Given the description of an element on the screen output the (x, y) to click on. 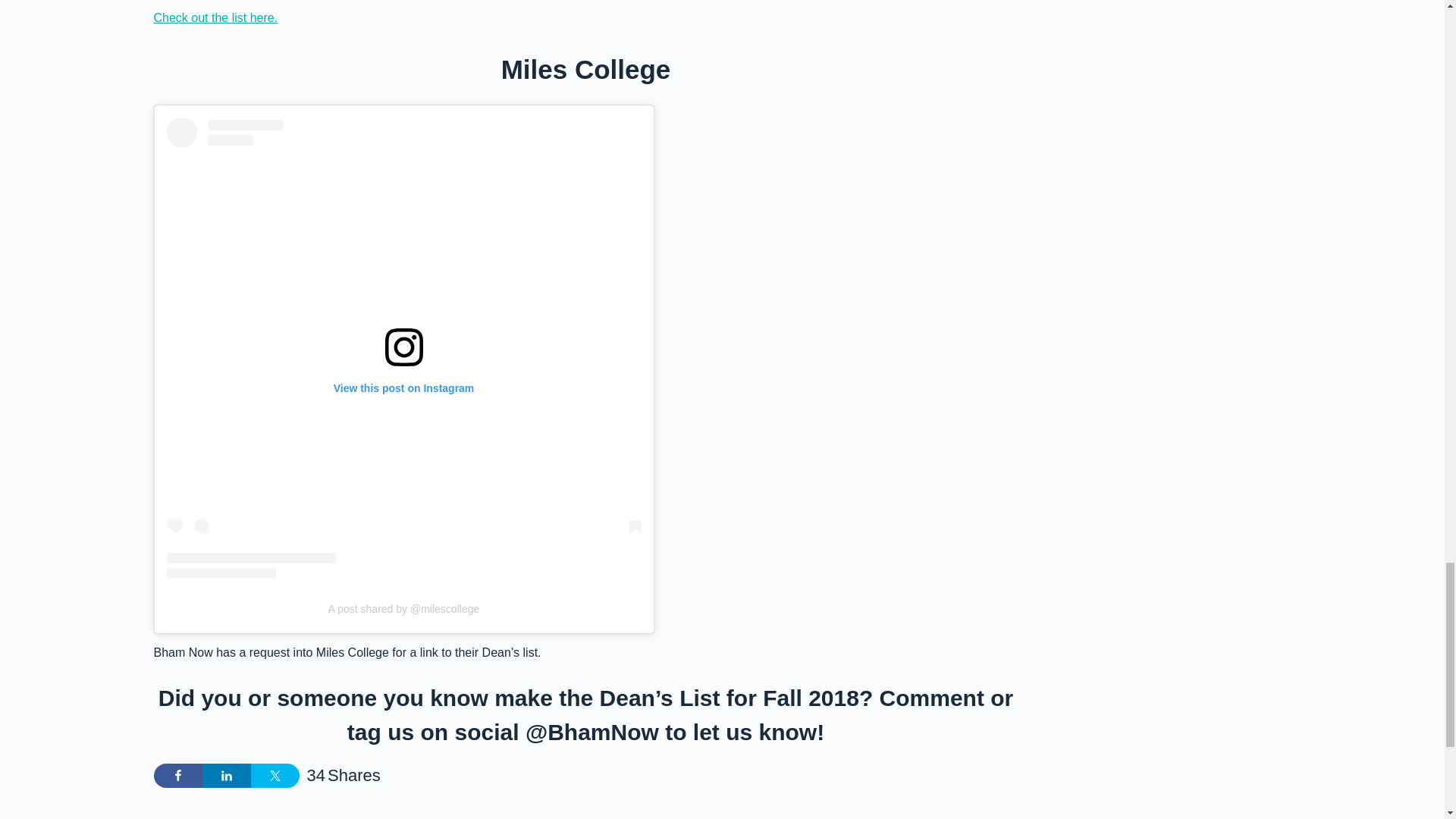
Share on Facebook (177, 775)
Share on Twitter (274, 775)
Share on LinkedIn (226, 775)
